Given the description of an element on the screen output the (x, y) to click on. 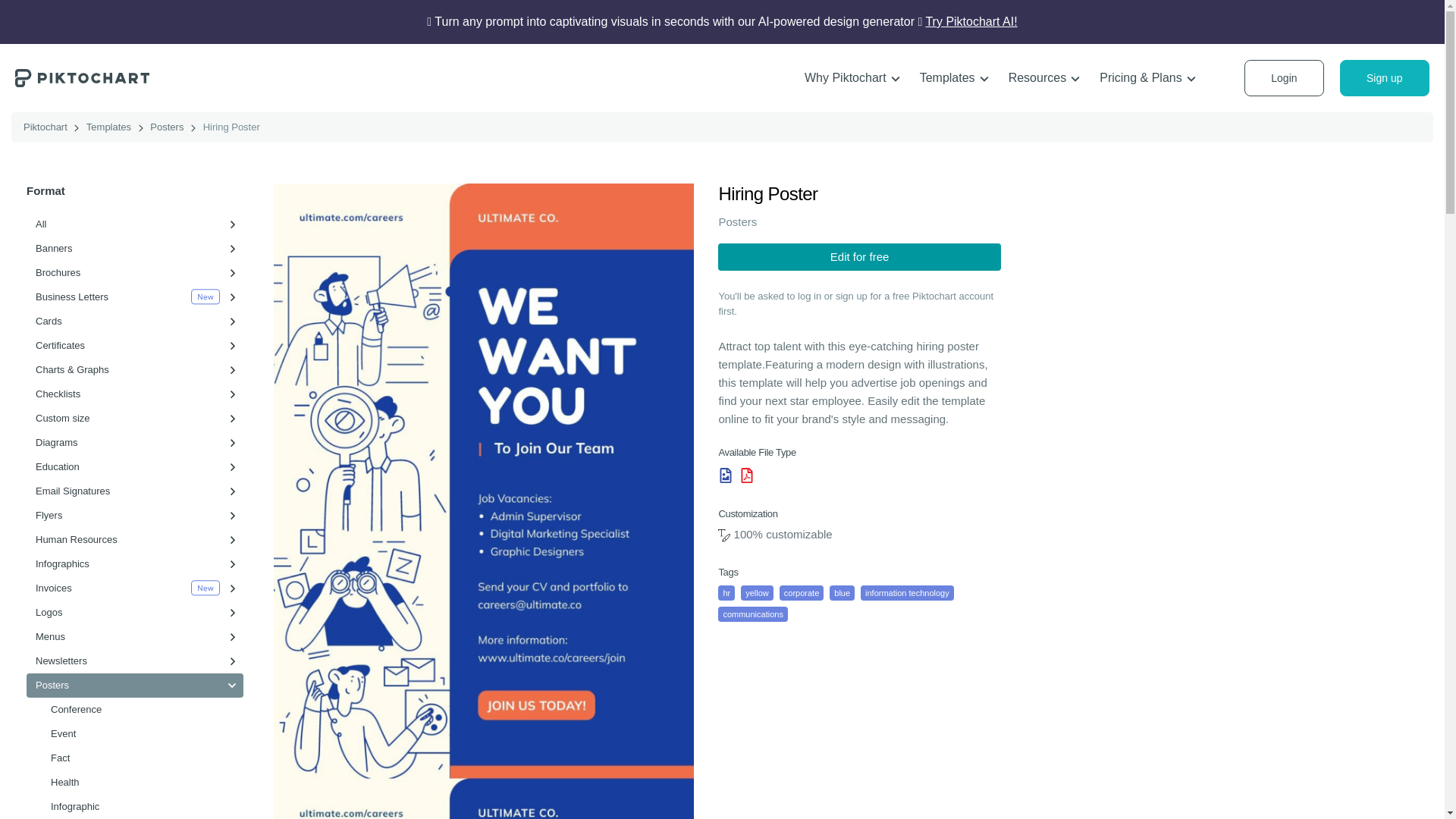
Piktochart (81, 77)
Why Piktochart (852, 78)
Why Piktochart (852, 78)
Try Piktochart AI! (970, 21)
